Given the description of an element on the screen output the (x, y) to click on. 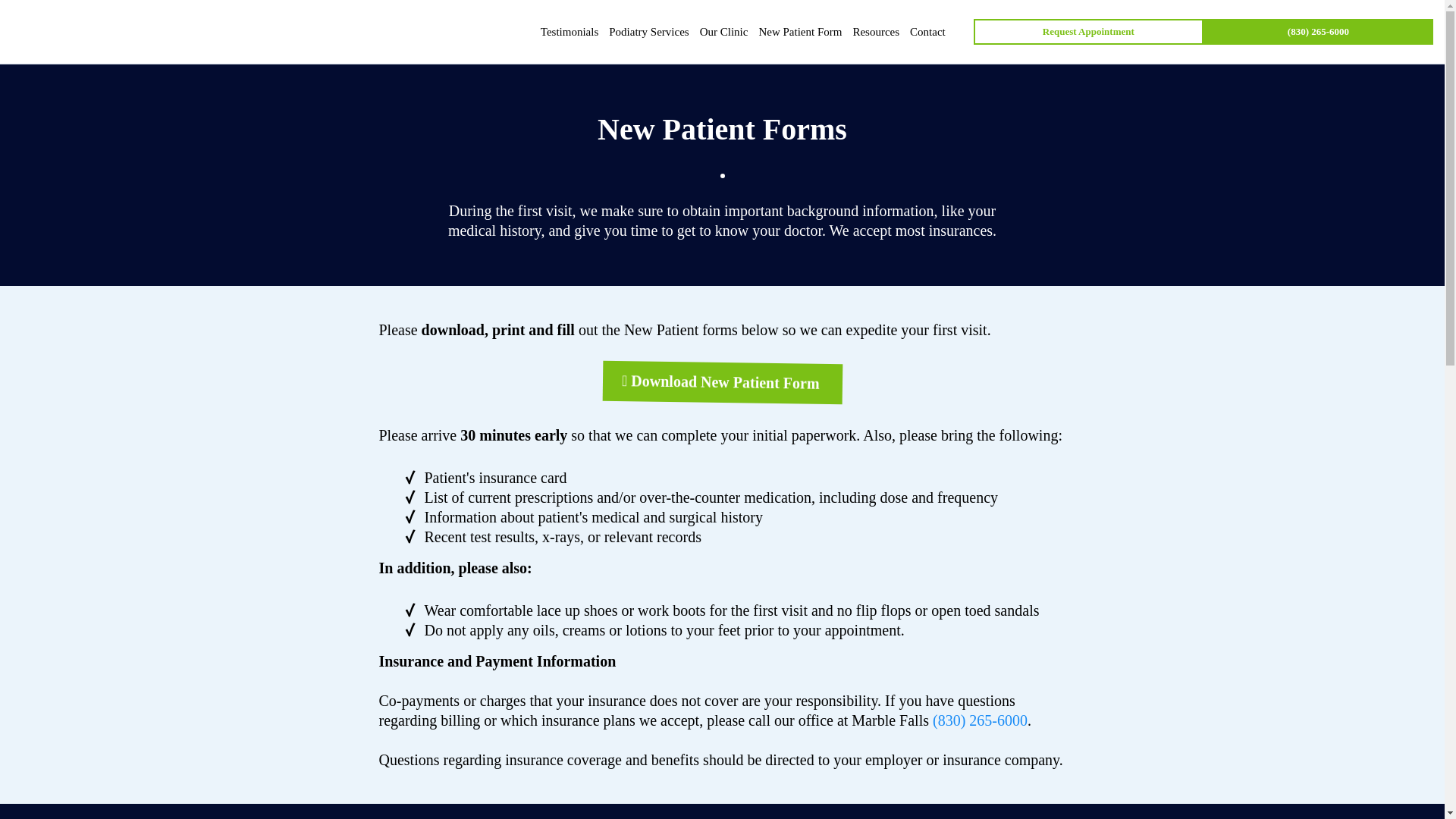
Testimonials (569, 32)
Podiatry Services (649, 32)
Download New Patient Form (721, 381)
New Patient Form (799, 32)
Resources (875, 32)
Request Appointment (1089, 31)
Our Clinic (724, 32)
Contact (927, 32)
